Given the description of an element on the screen output the (x, y) to click on. 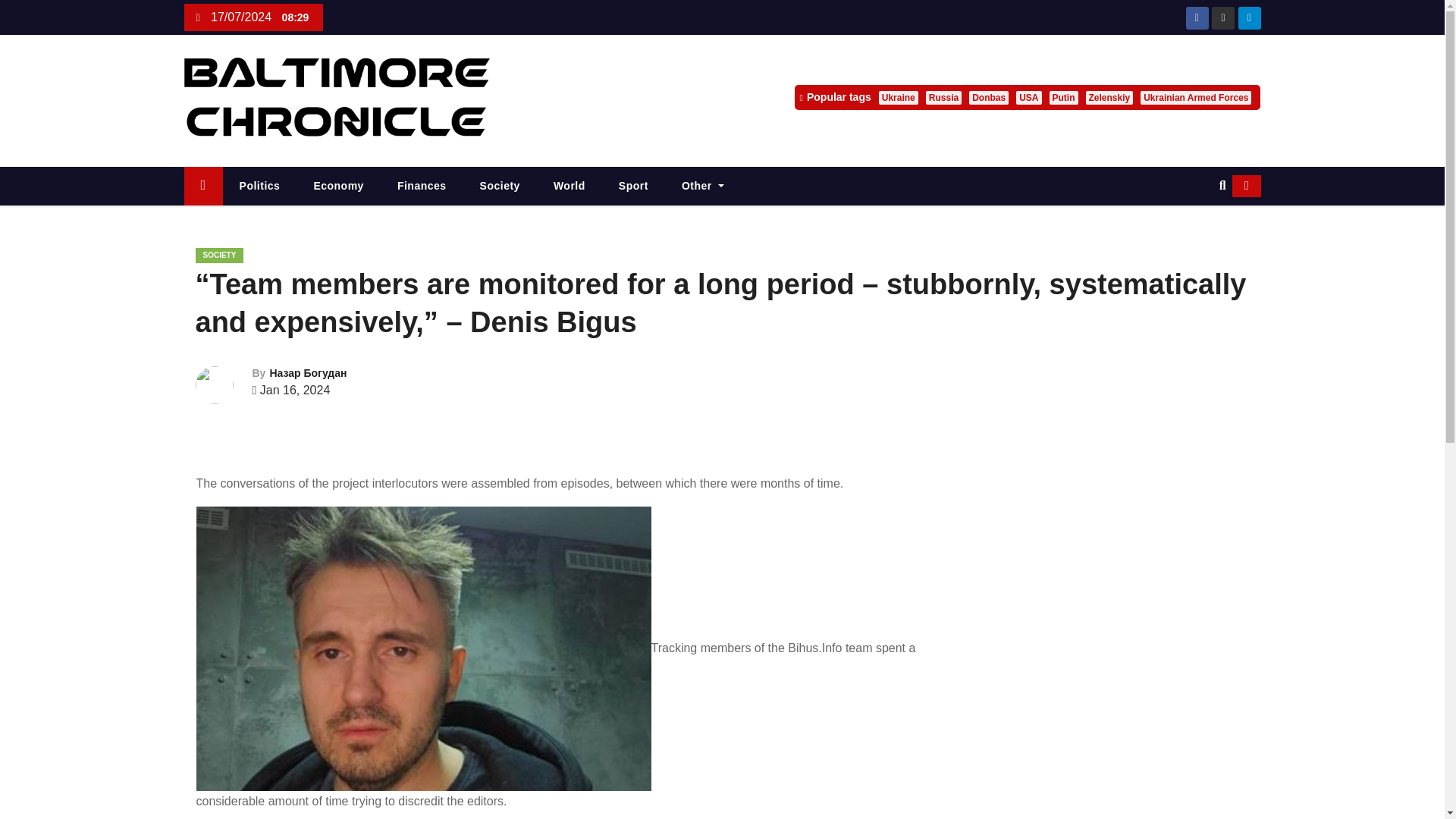
SOCIETY (219, 255)
Finances (421, 186)
Zelenskiy (1110, 97)
World (569, 186)
Ukraine (898, 97)
Home (202, 186)
Economy (338, 186)
Politics (259, 186)
Donbas (989, 97)
Politics (259, 186)
Sport (633, 186)
Society (500, 186)
Russia (943, 97)
Other (703, 186)
Finances (421, 186)
